Given the description of an element on the screen output the (x, y) to click on. 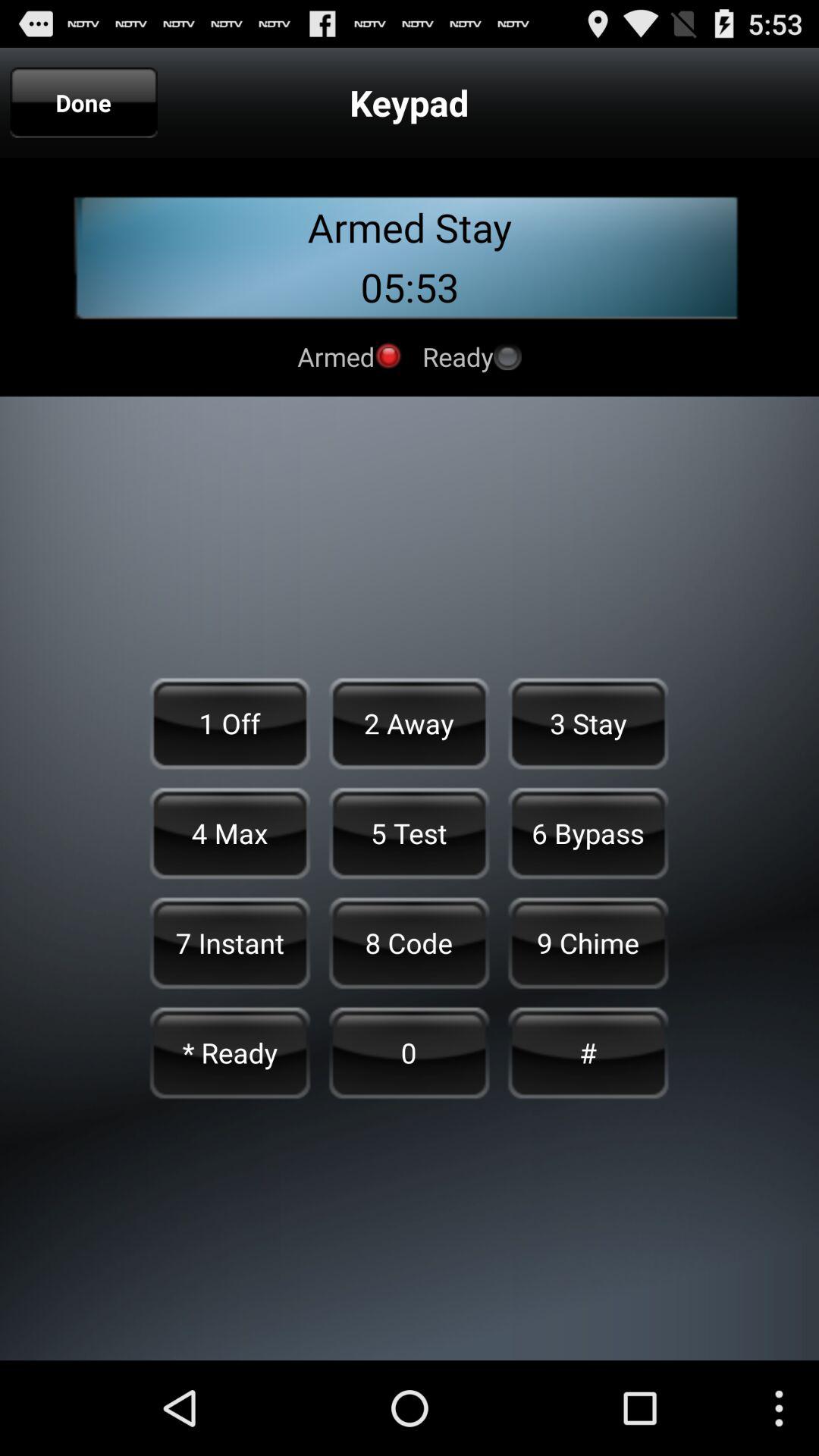
indicates armed status (388, 356)
